Given the description of an element on the screen output the (x, y) to click on. 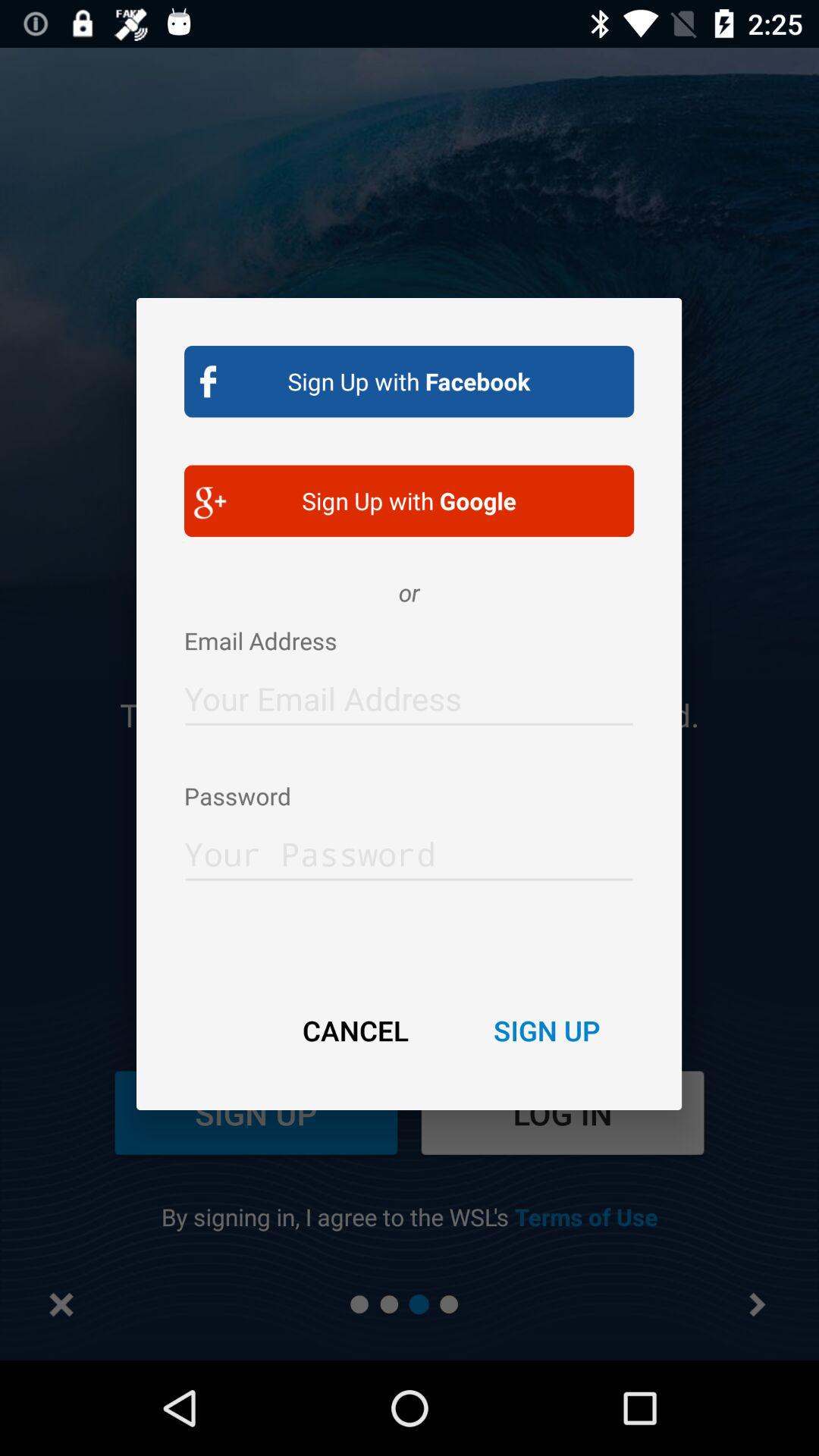
allows you to enter your email address (408, 693)
